Given the description of an element on the screen output the (x, y) to click on. 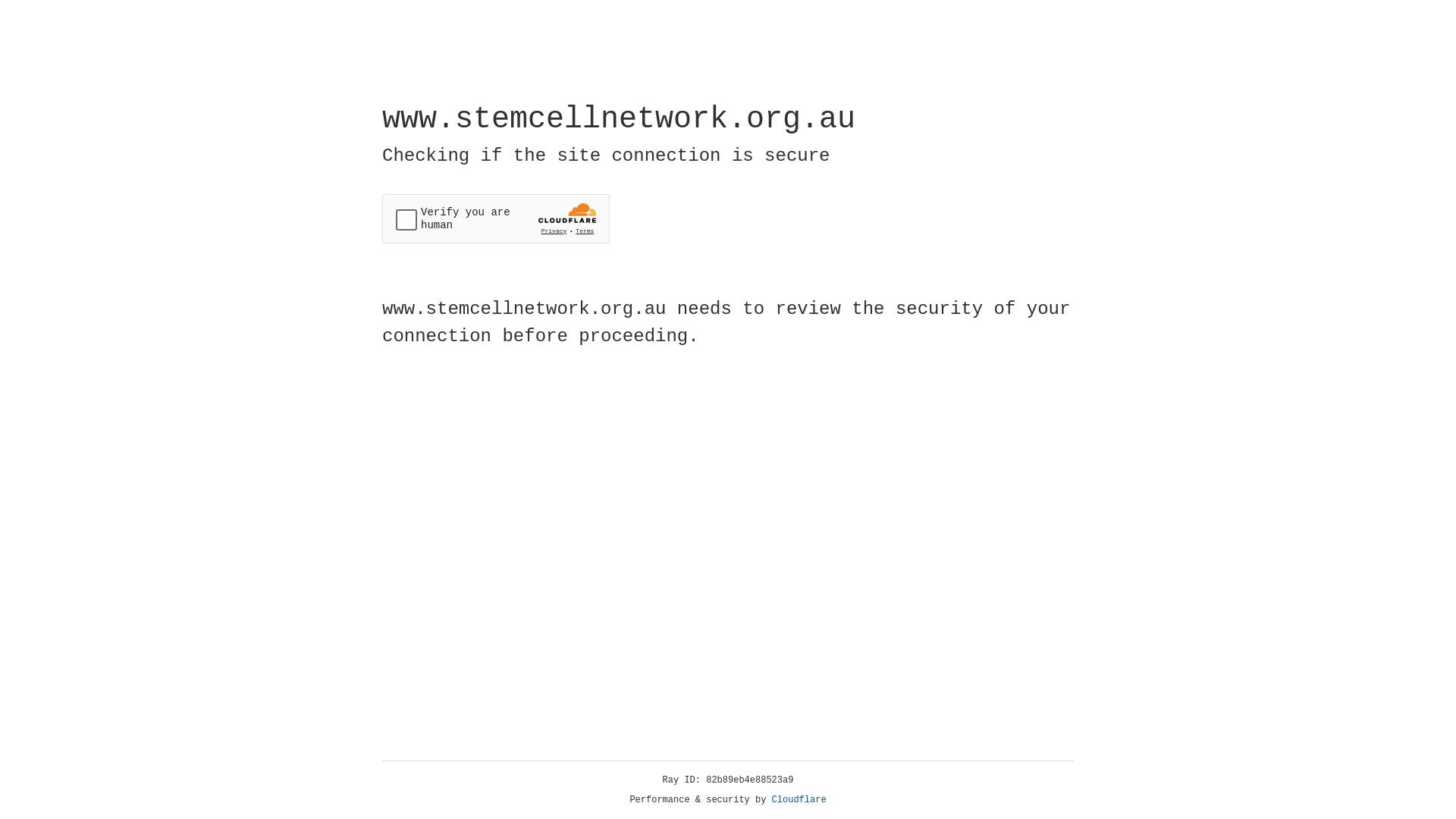
Cloudflare Element type: text (798, 799)
Widget containing a Cloudflare security challenge Element type: hover (495, 218)
